Given the description of an element on the screen output the (x, y) to click on. 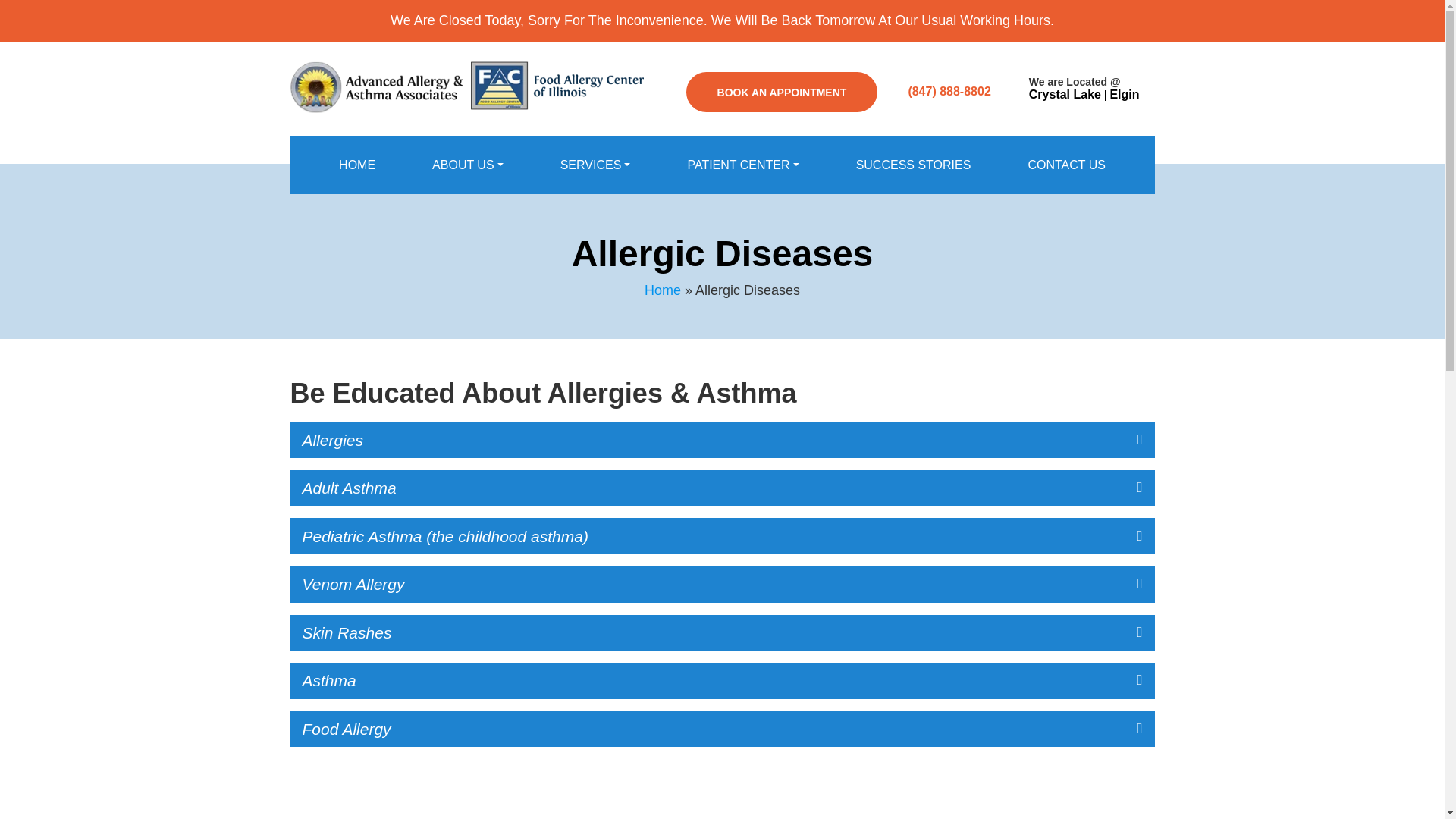
PATIENT CENTER (742, 164)
HOME (357, 164)
ABOUT US (467, 164)
About Us (467, 164)
SUCCESS STORIES (913, 164)
CONTACT US (1066, 164)
Home (357, 164)
Elgin (1123, 94)
BOOK AN APPOINTMENT (781, 92)
SERVICES (595, 164)
